Given the description of an element on the screen output the (x, y) to click on. 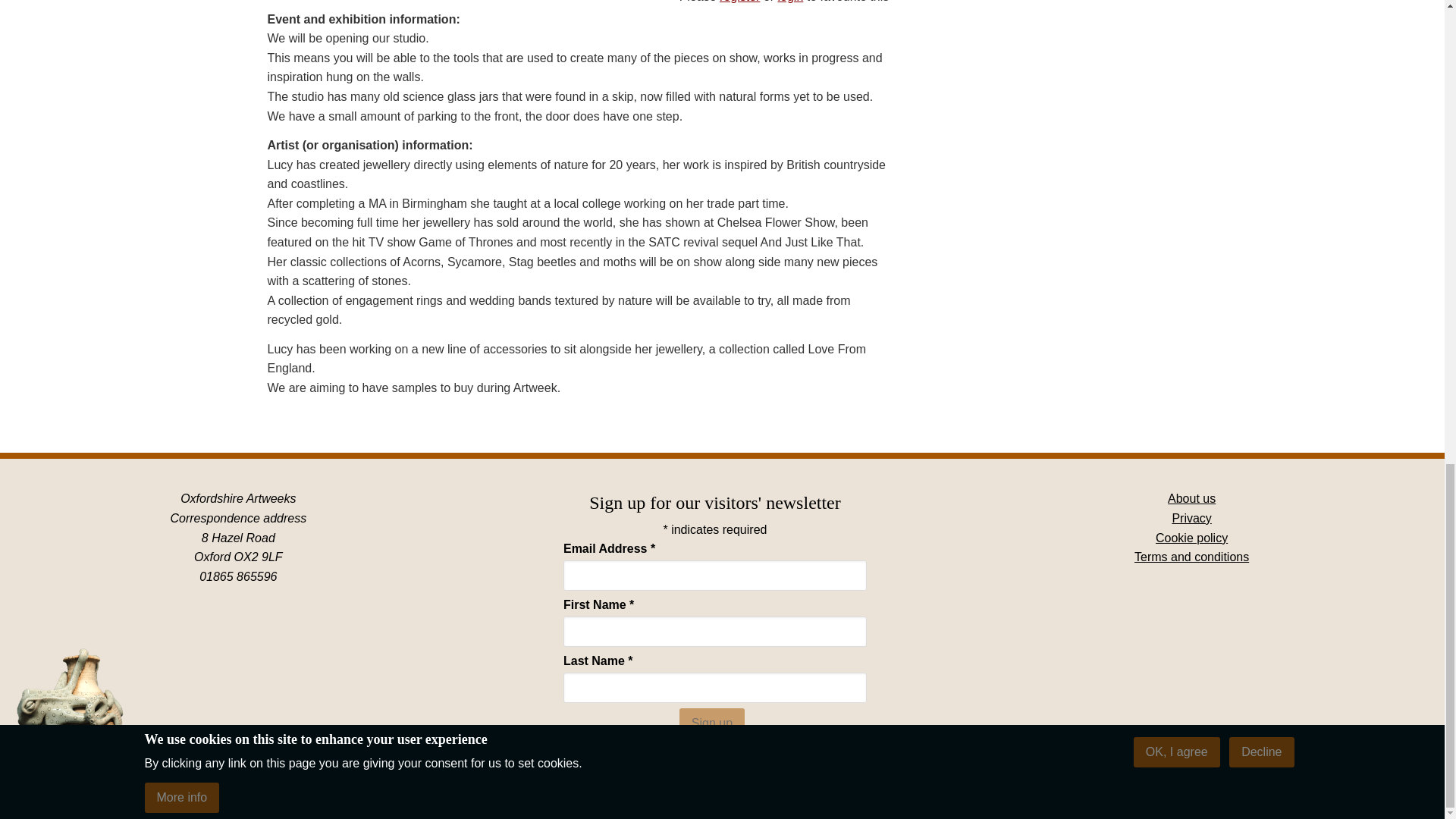
login (790, 1)
register (739, 1)
Sign up (711, 723)
Visit Abby Mason's venue (760, 756)
